Given the description of an element on the screen output the (x, y) to click on. 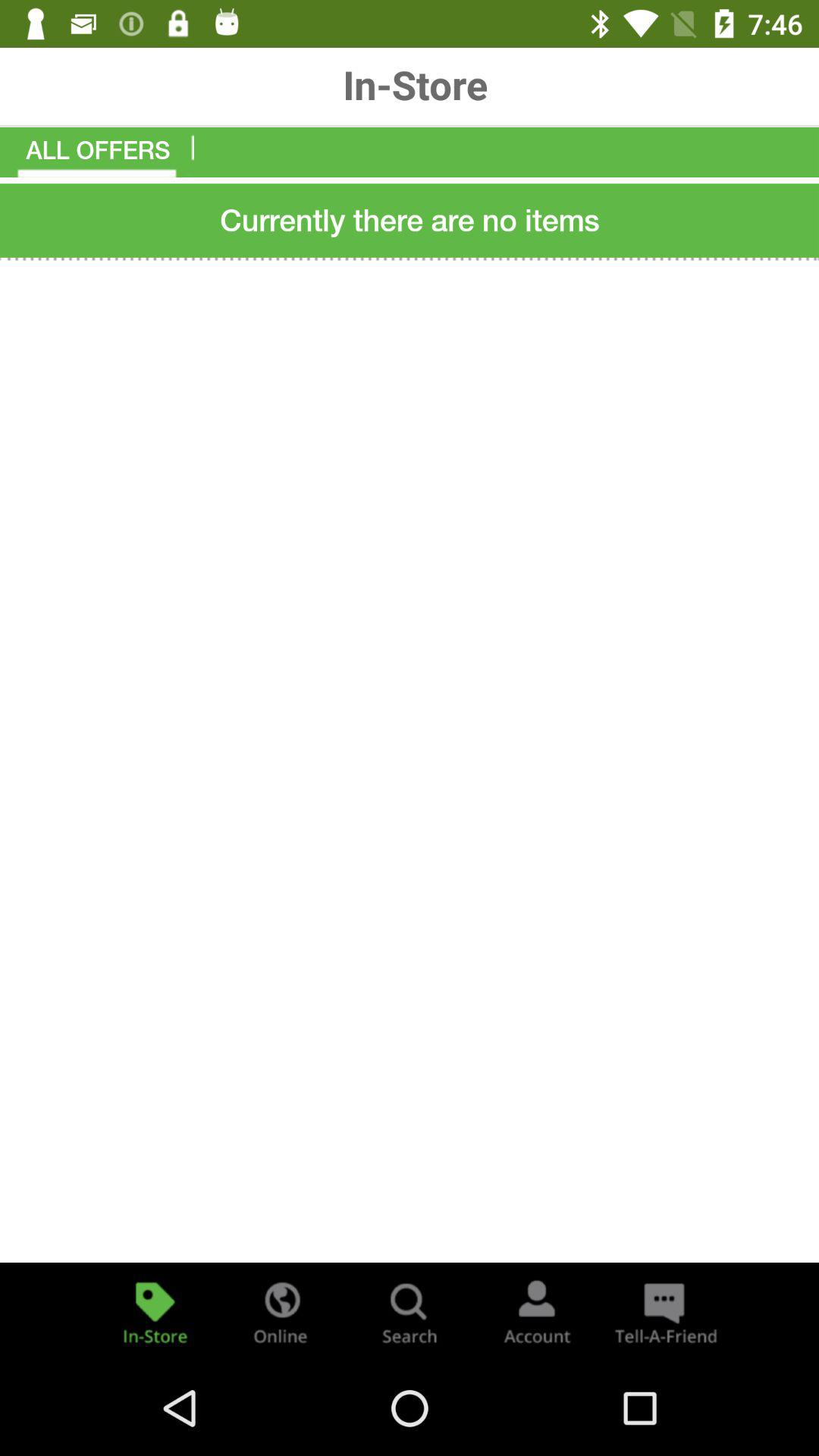
text a friend (664, 1311)
